Given the description of an element on the screen output the (x, y) to click on. 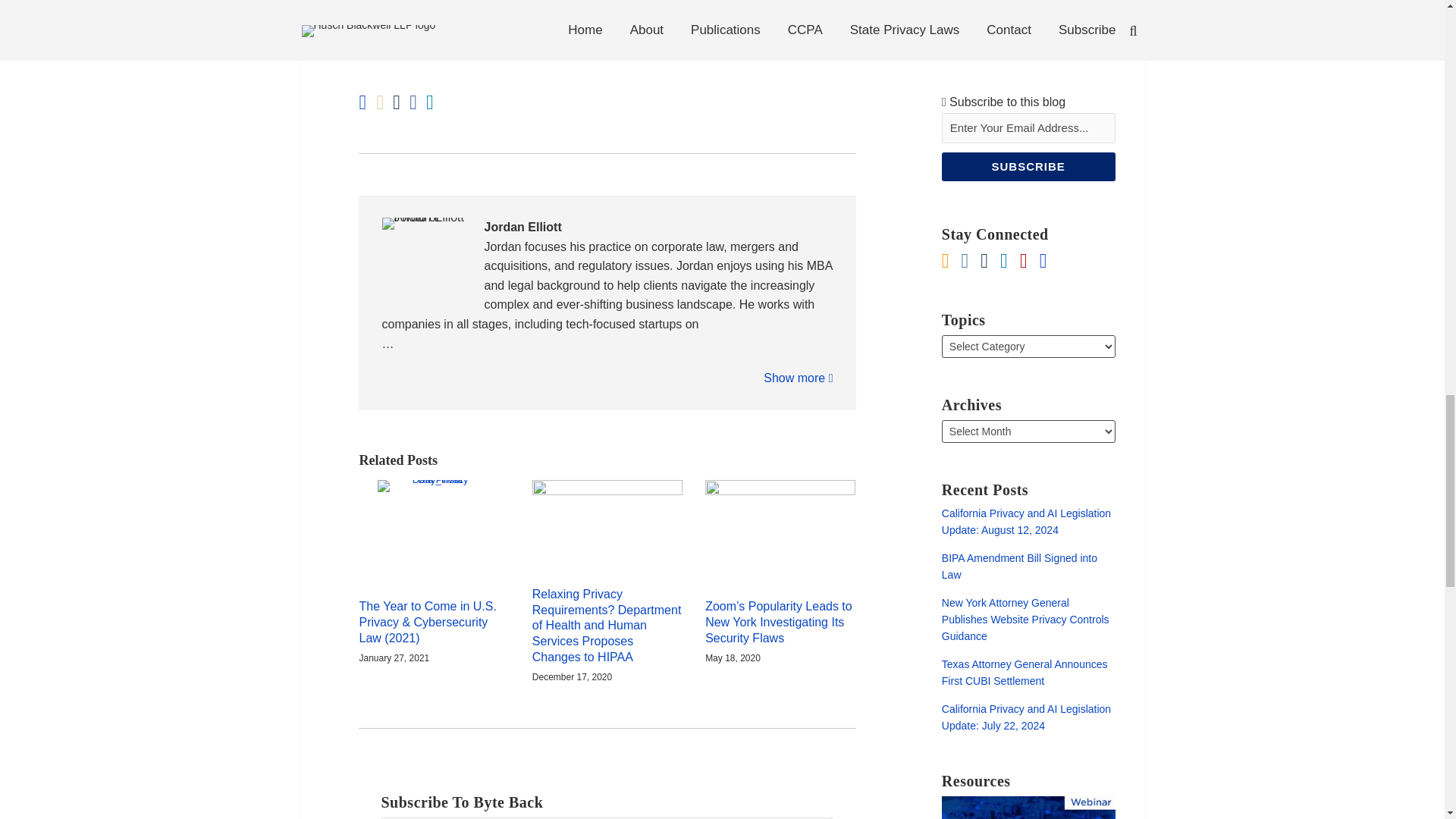
Subscribe (1028, 166)
Subscribe (1028, 166)
Show more (797, 377)
